Given the description of an element on the screen output the (x, y) to click on. 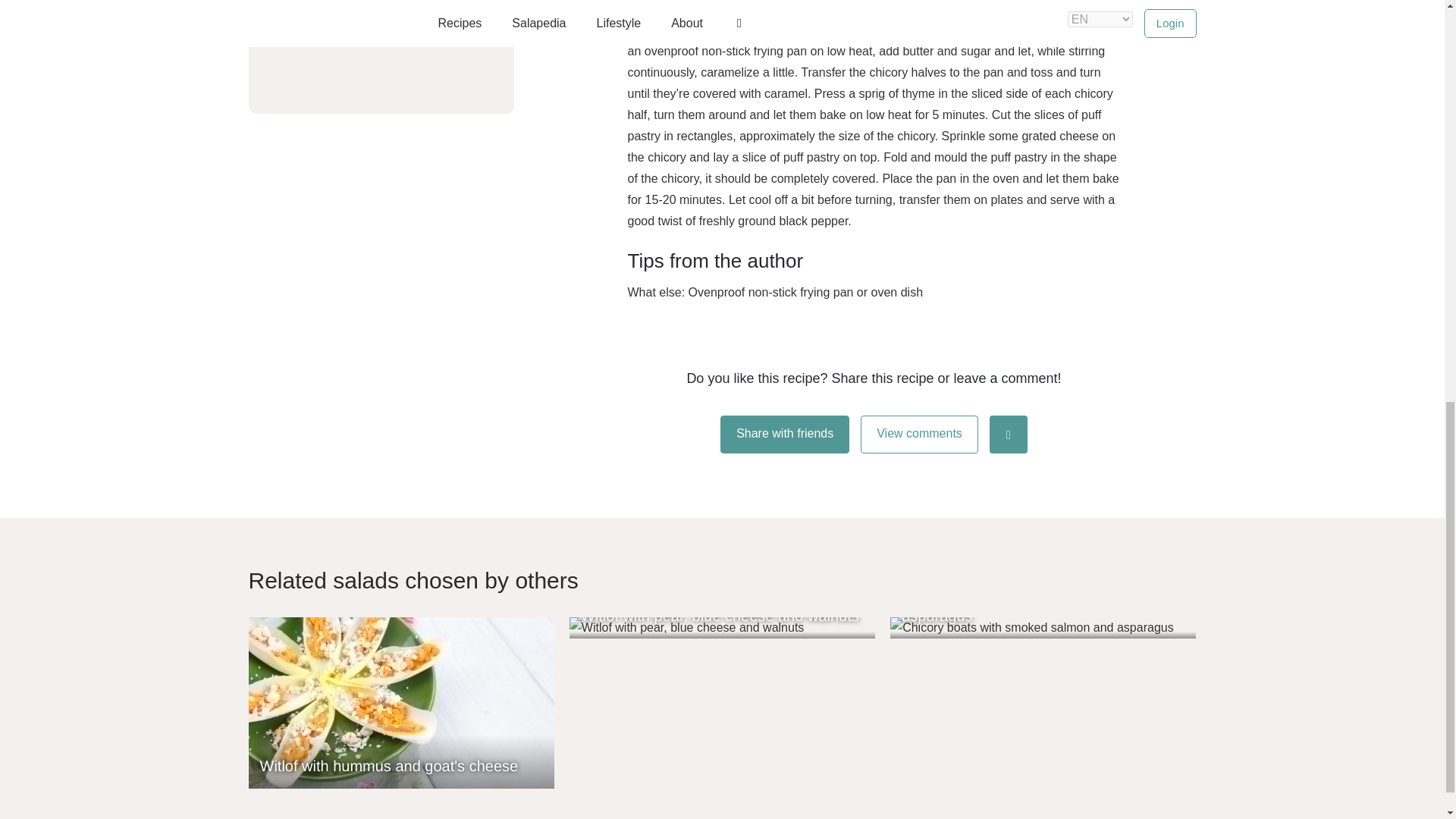
Chicory boats with smoked salmon and asparagus (1042, 627)
Chicory boats with smoked salmon and asparagus (1042, 627)
Witlof with pear, blue cheese and walnuts (722, 627)
Witlof with pear, blue cheese and walnuts (722, 627)
Witlof with hummus and goat's cheese (401, 702)
View comments (919, 434)
Witlof with hummus and goat's cheese (401, 702)
